Given the description of an element on the screen output the (x, y) to click on. 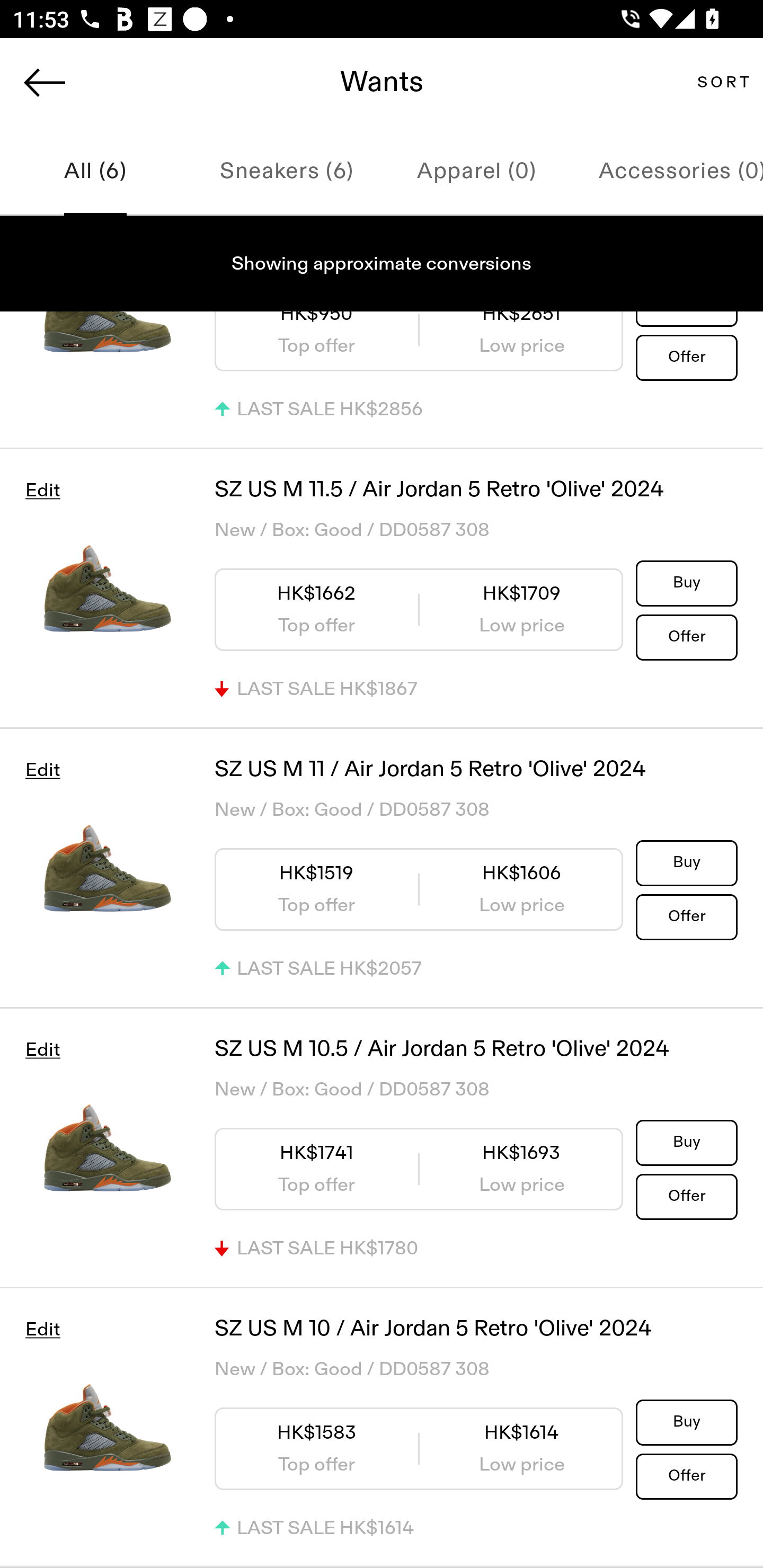
SORT (722, 81)
Sneakers (6) (285, 171)
Apparel (0) (476, 171)
Accessories (0) (667, 171)
HK$950 HK$2651 Top offer Low price (418, 341)
Offer (686, 356)
Edit (42, 490)
Buy (686, 582)
HK$1662 HK$1709 Top offer Low price (418, 608)
Offer (686, 636)
Edit (42, 769)
Buy (686, 861)
HK$1519 HK$1606 Top offer Low price (418, 889)
Offer (686, 916)
Edit (42, 1049)
Buy (686, 1141)
HK$1741 HK$1693 Top offer Low price (418, 1168)
Offer (686, 1195)
Edit (42, 1329)
Buy (686, 1421)
HK$1583 HK$1614 Top offer Low price (418, 1448)
Offer (686, 1475)
